Given the description of an element on the screen output the (x, y) to click on. 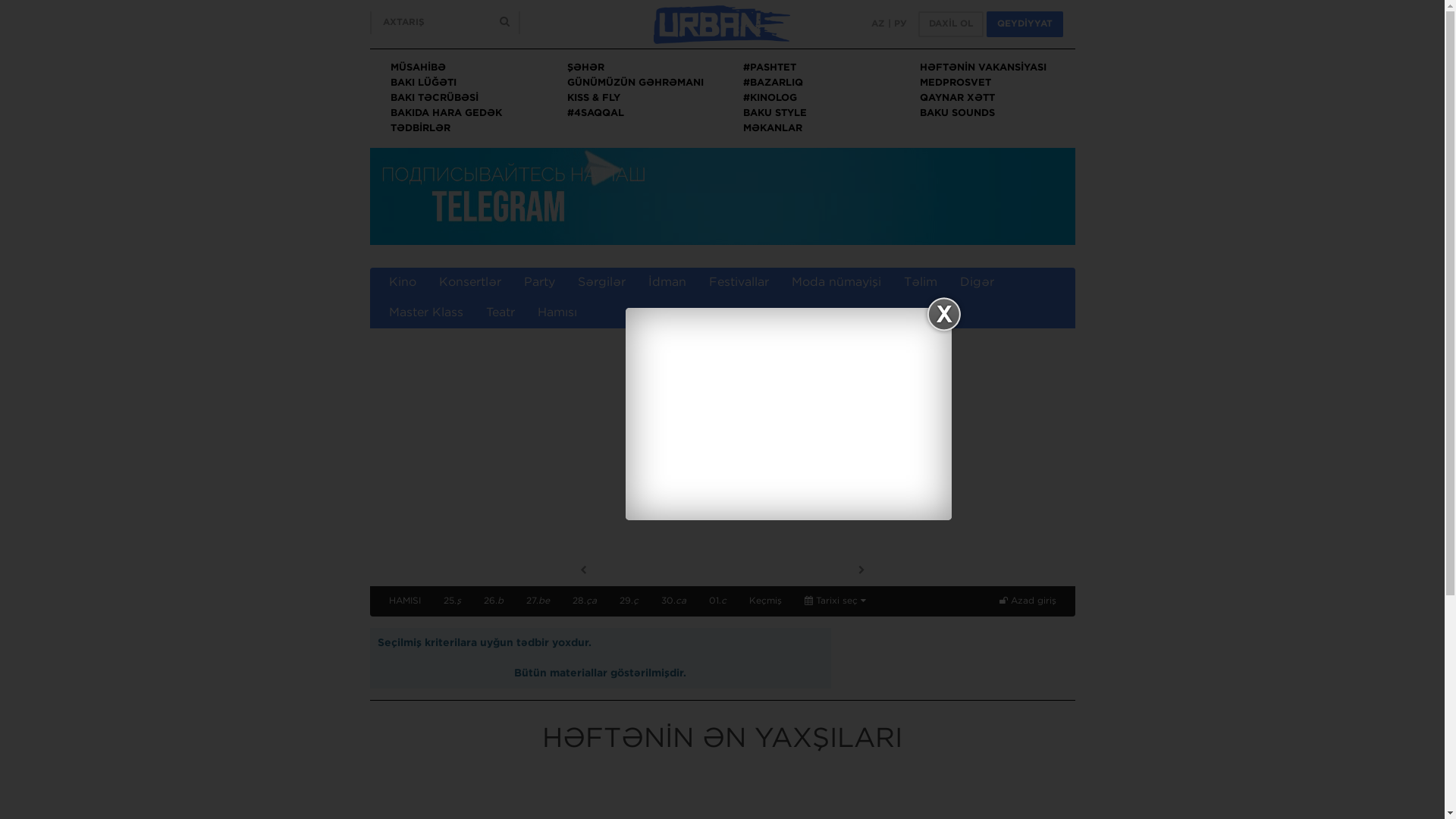
Party Element type: text (539, 282)
Teatr Element type: text (500, 313)
HAMISI Element type: text (404, 601)
BAKU STYLE Element type: text (774, 113)
KISS & FLY Element type: text (593, 98)
#4SAQQAL Element type: text (595, 113)
Kino Element type: text (402, 282)
BAKU SOUNDS Element type: text (956, 113)
Master Klass Element type: text (425, 313)
30.ca Element type: text (672, 601)
Festivallar Element type: text (738, 282)
#PASHTET Element type: text (769, 67)
AZ Element type: text (877, 23)
26.b Element type: text (492, 601)
MEDPROSVET Element type: text (955, 82)
#BAZARLIQ Element type: text (773, 82)
#KINOLOG Element type: text (770, 98)
01.c Element type: text (717, 601)
27.be Element type: text (537, 601)
